Given the description of an element on the screen output the (x, y) to click on. 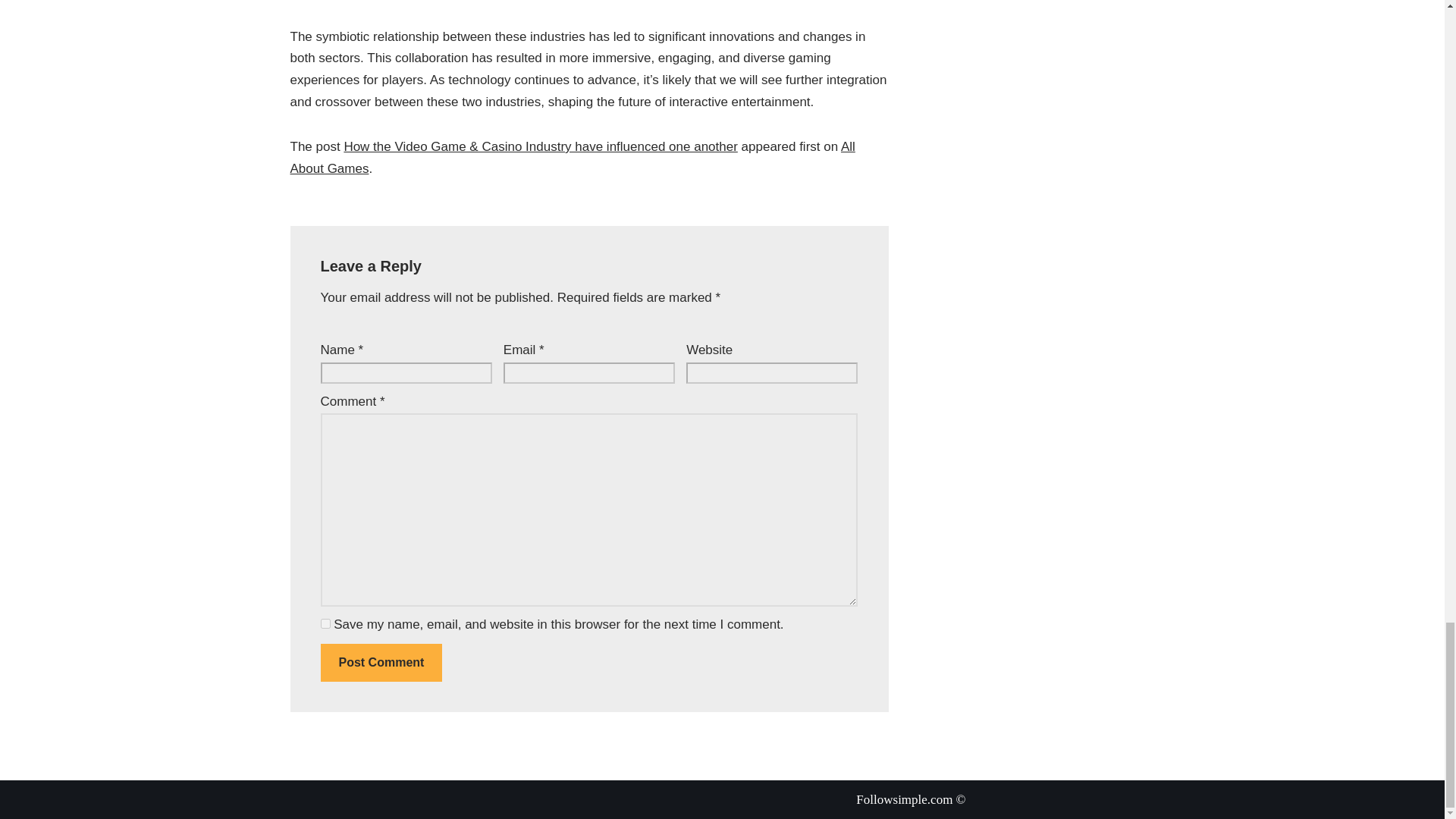
Post Comment (381, 662)
yes (325, 623)
Post Comment (381, 662)
All About Games (571, 157)
